Given the description of an element on the screen output the (x, y) to click on. 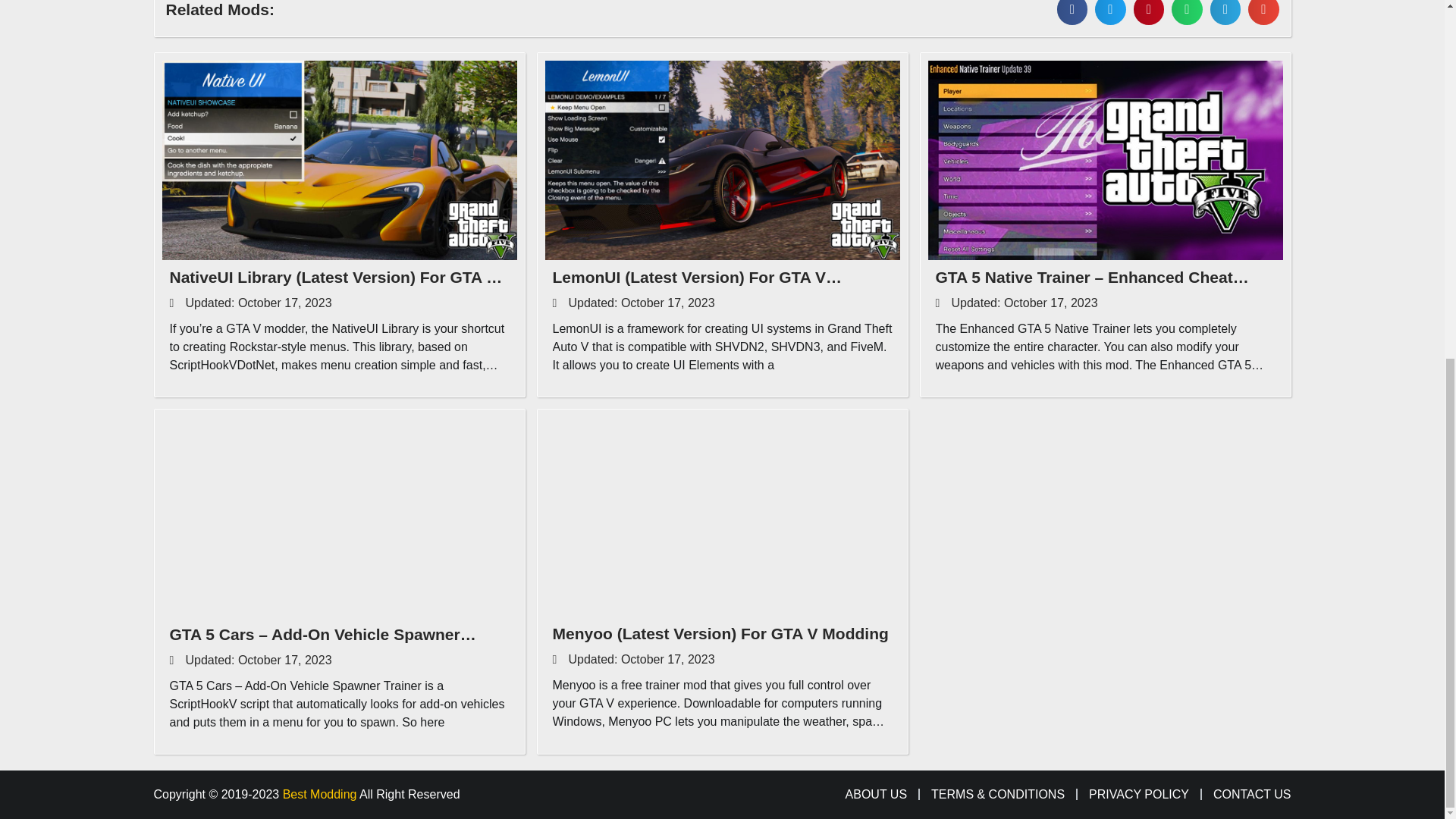
Best Modding (319, 793)
ABOUT US (876, 794)
